Given the description of an element on the screen output the (x, y) to click on. 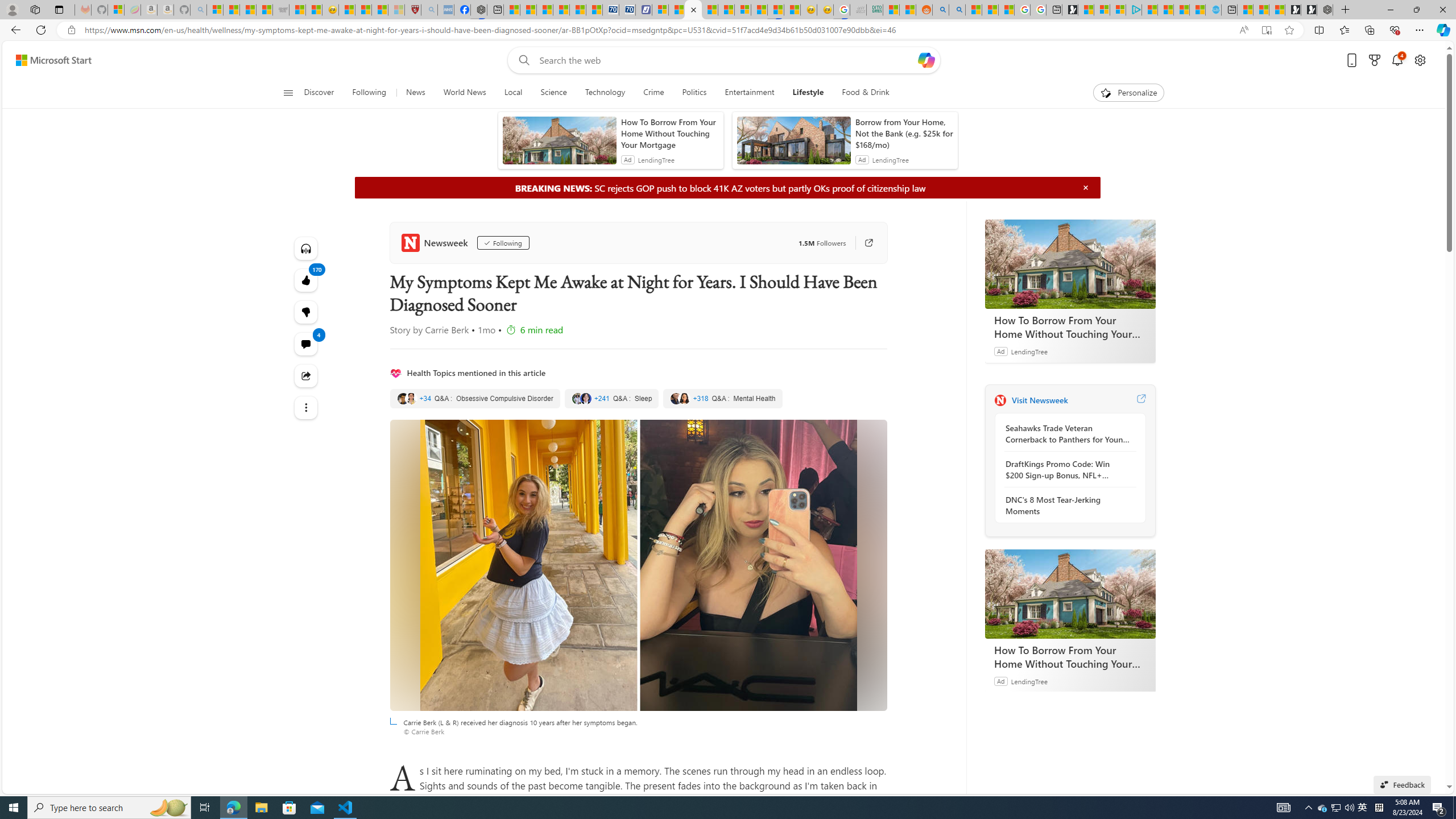
12 Popular Science Lies that Must be Corrected - Sleeping (395, 9)
Dislike (305, 311)
Share this story (305, 375)
Microsoft Start Gaming (1070, 9)
Lifestyle (808, 92)
Science (553, 92)
Recipes - MSN (346, 9)
